Given the description of an element on the screen output the (x, y) to click on. 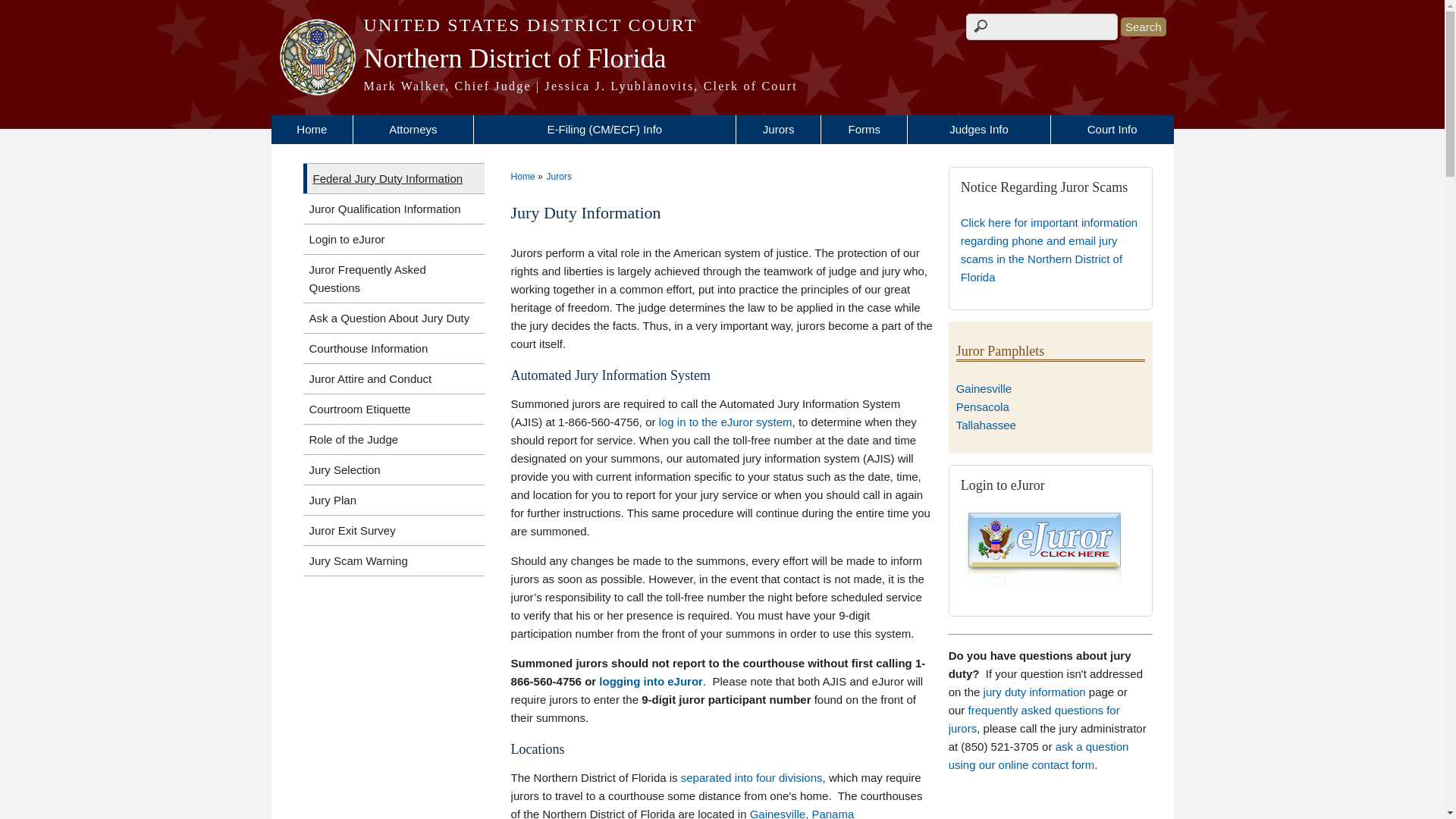
Home (721, 86)
Search (1143, 26)
Enter the terms you wish to search for. (1042, 26)
Home (311, 129)
Search (1143, 26)
Jurors (778, 129)
Northern District of Florida (721, 57)
Home (721, 25)
UNITED STATES DISTRICT COURT (721, 25)
Forms (864, 129)
Attorneys (412, 129)
Home (721, 57)
